Given the description of an element on the screen output the (x, y) to click on. 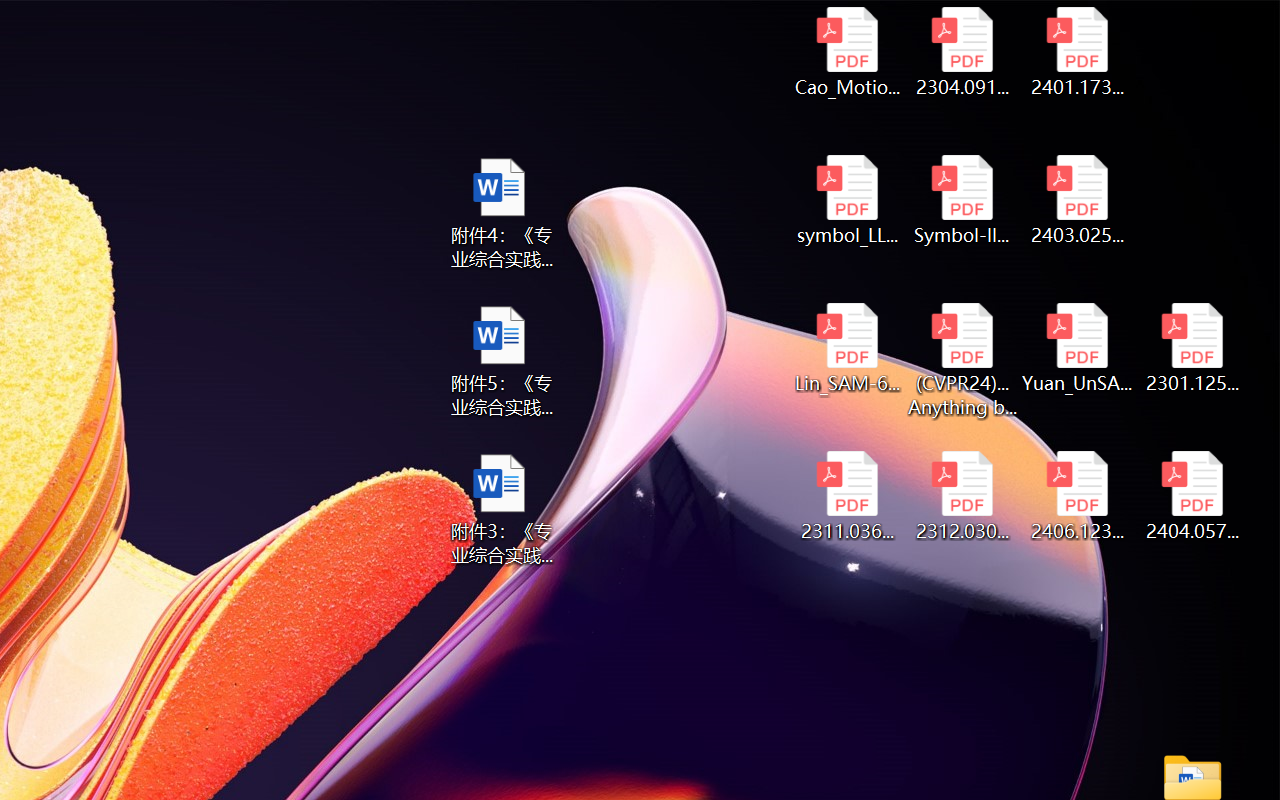
2311.03658v2.pdf (846, 496)
Symbol-llm-v2.pdf (962, 200)
symbol_LLM.pdf (846, 200)
2403.02502v1.pdf (1077, 200)
2404.05719v1.pdf (1192, 496)
2304.09121v3.pdf (962, 52)
2312.03032v2.pdf (962, 496)
2401.17399v1.pdf (1077, 52)
2301.12597v3.pdf (1192, 348)
(CVPR24)Matching Anything by Segmenting Anything.pdf (962, 360)
